Given the description of an element on the screen output the (x, y) to click on. 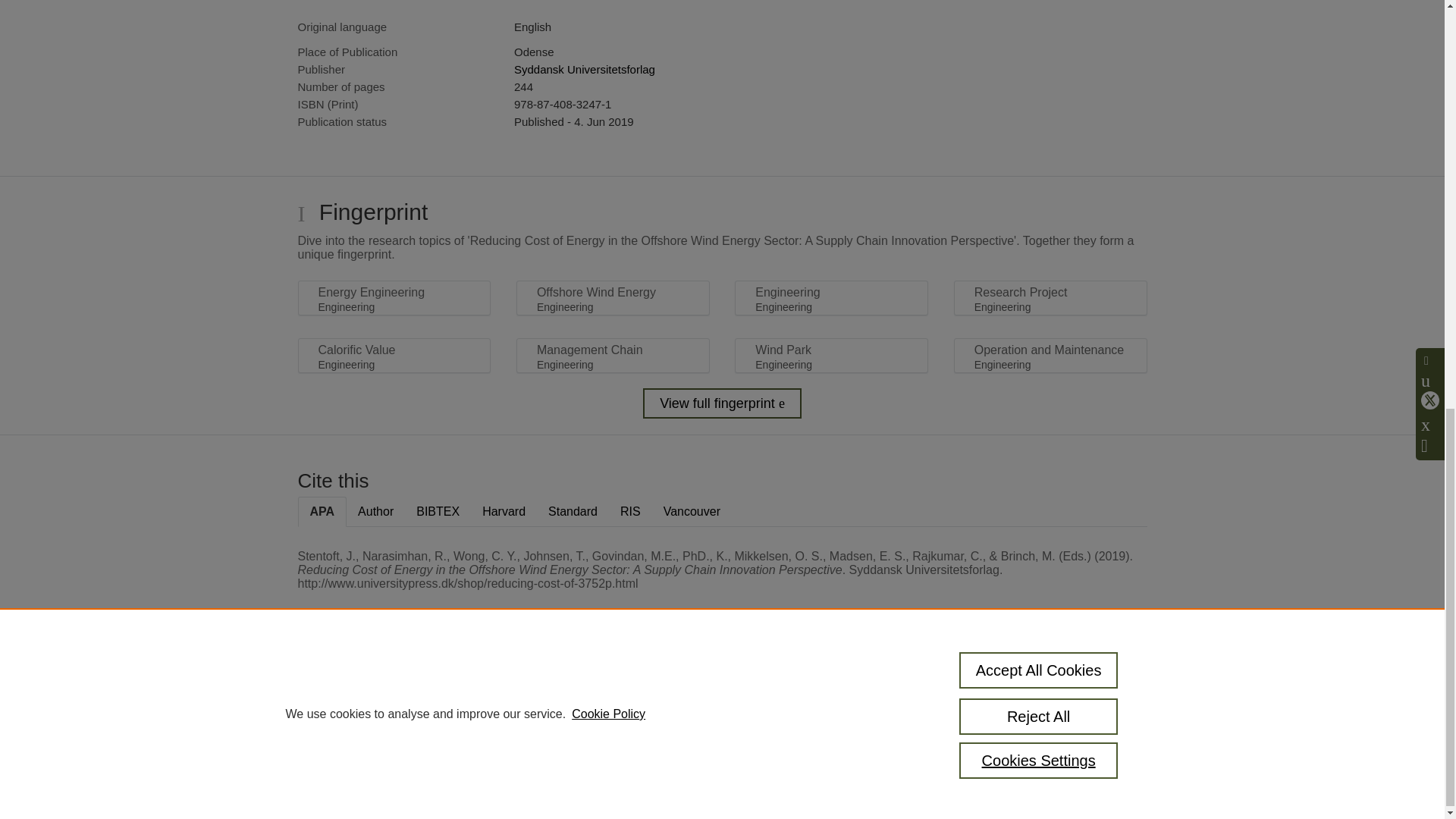
Syddansk Universitetsforlag (584, 69)
